Given the description of an element on the screen output the (x, y) to click on. 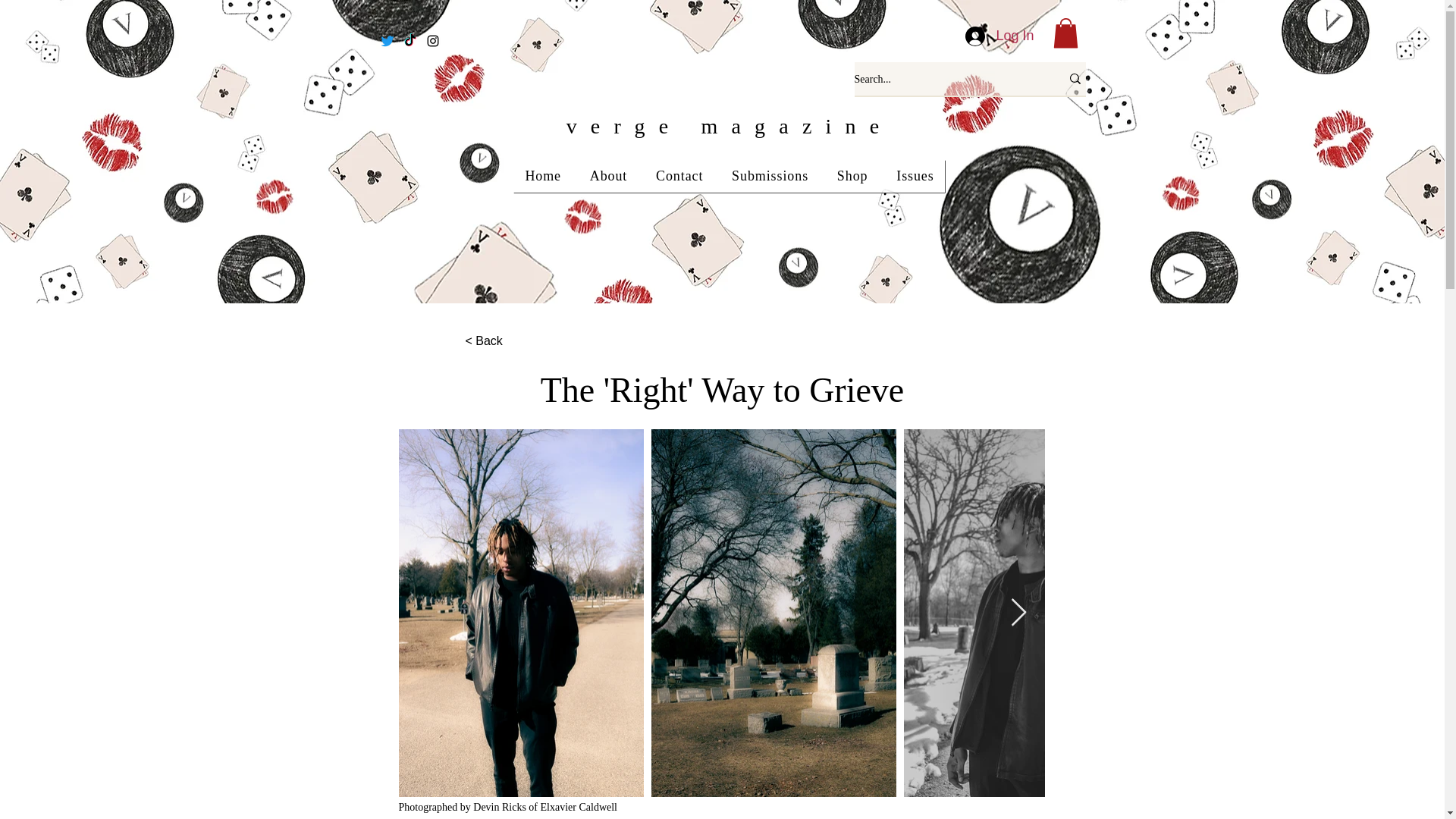
Home (542, 175)
Submissions (769, 175)
Contact (679, 175)
Shop (852, 175)
Log In (999, 36)
About (608, 175)
